Given the description of an element on the screen output the (x, y) to click on. 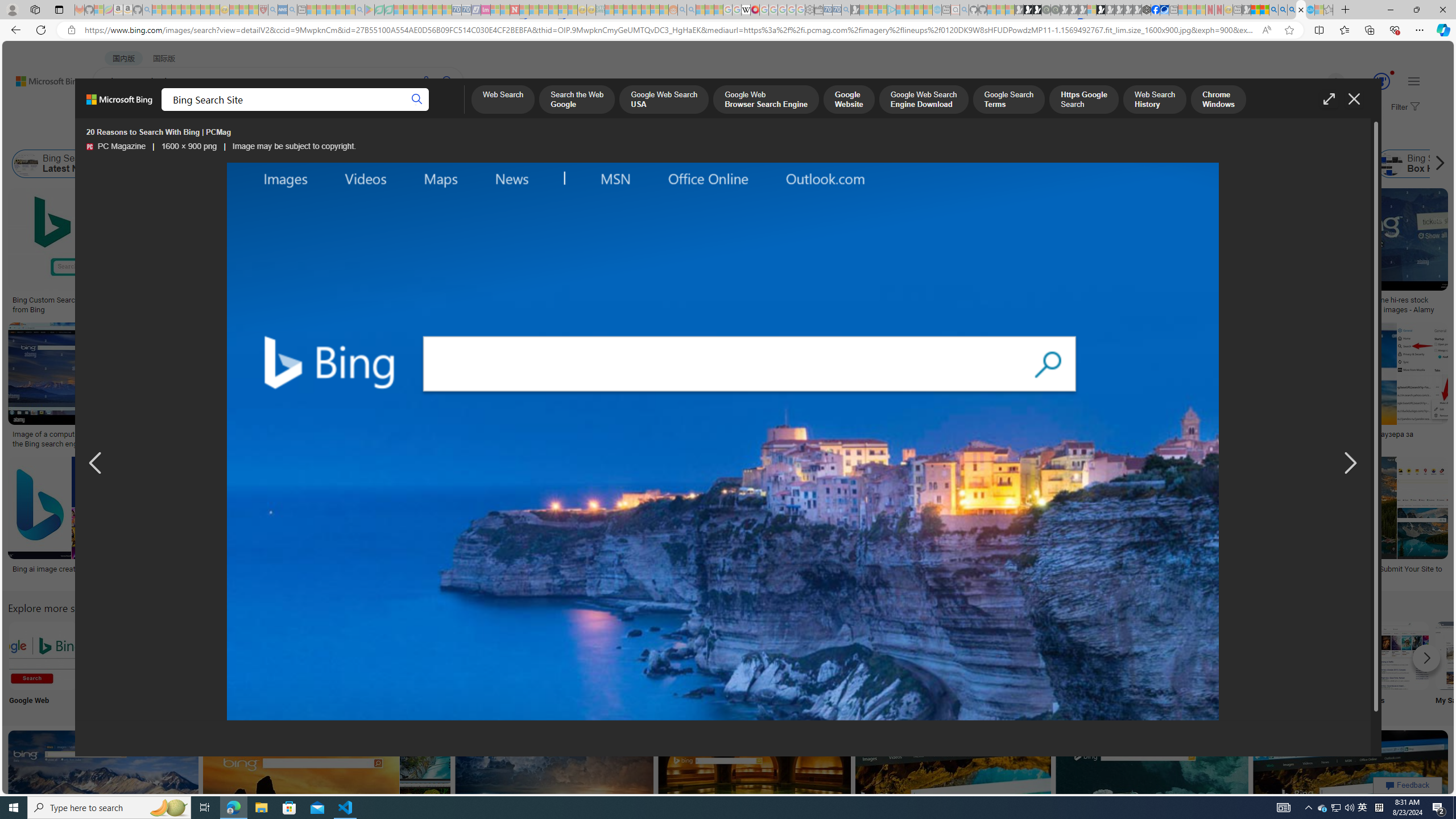
Bing Advanced Search Tricks You Should KnowSave (462, 252)
Settings and quick links (1413, 80)
Tricks (1319, 665)
Who Made Bing Search Engine (974, 163)
Animation (1392, 72)
Bing Search Results (644, 654)
Google Web Search Engine Download (923, 100)
Internet Explorer Bing Search Internet Explorer (192, 665)
